Given the description of an element on the screen output the (x, y) to click on. 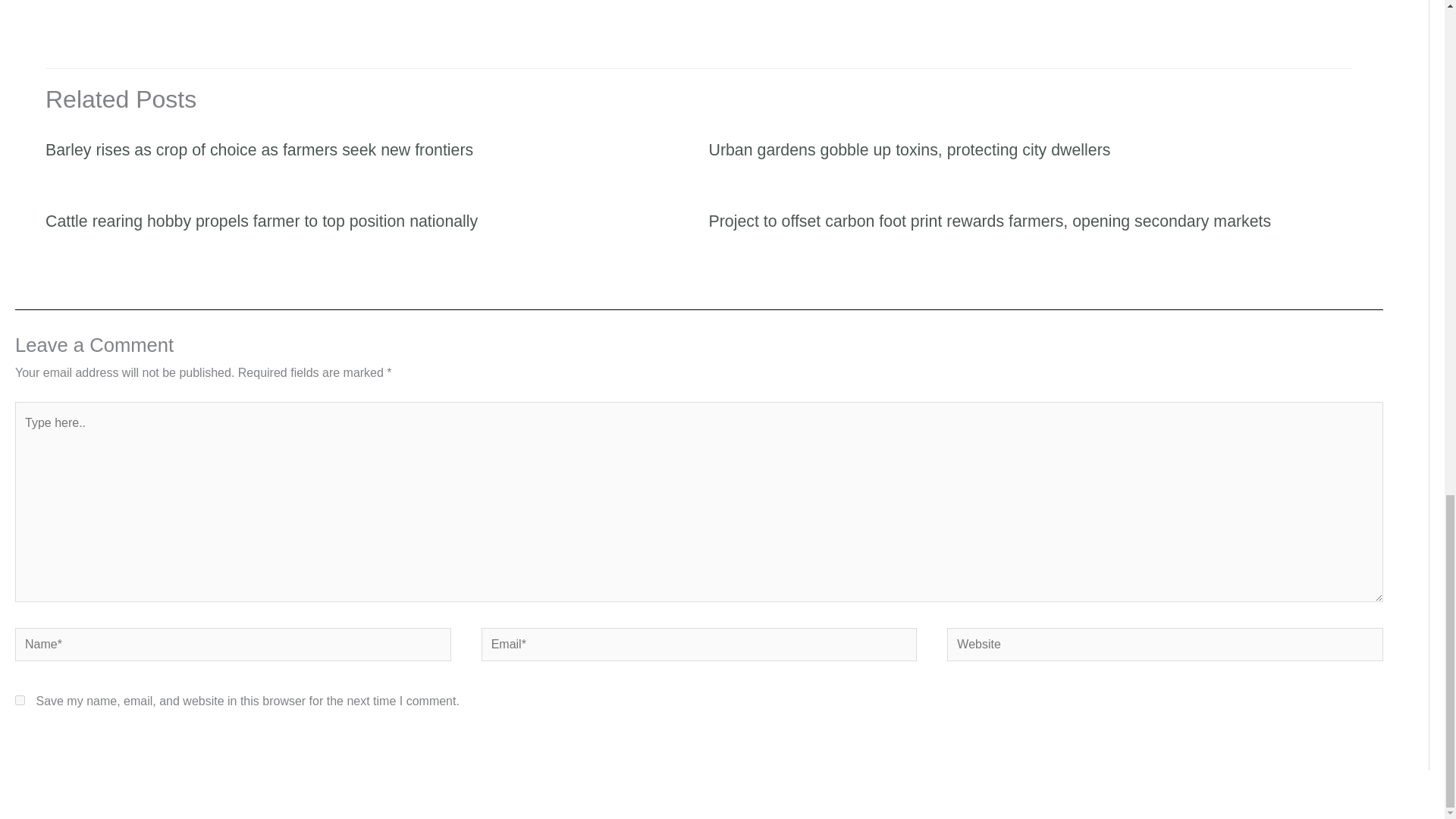
yes (19, 700)
Barley rises as crop of choice as farmers seek new frontiers (259, 149)
Upfield seeks up to 3,000 farmers to grow canola seeds (61, 5)
Urban gardens gobble up toxins, protecting city dwellers (908, 149)
